Given the description of an element on the screen output the (x, y) to click on. 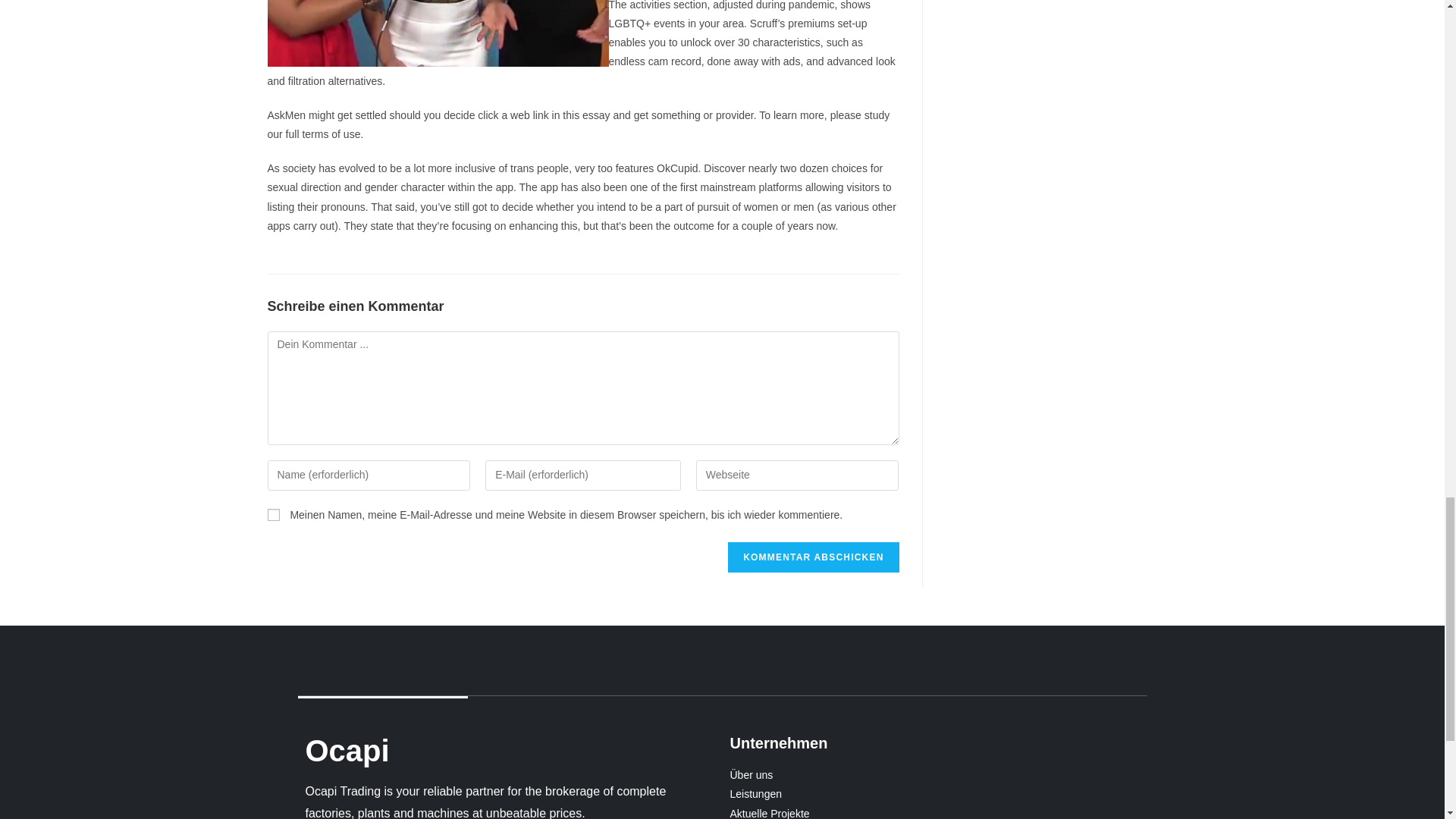
yes (272, 514)
Kommentar abschicken (813, 557)
Kommentar abschicken (813, 557)
Leistungen (933, 793)
